Given the description of an element on the screen output the (x, y) to click on. 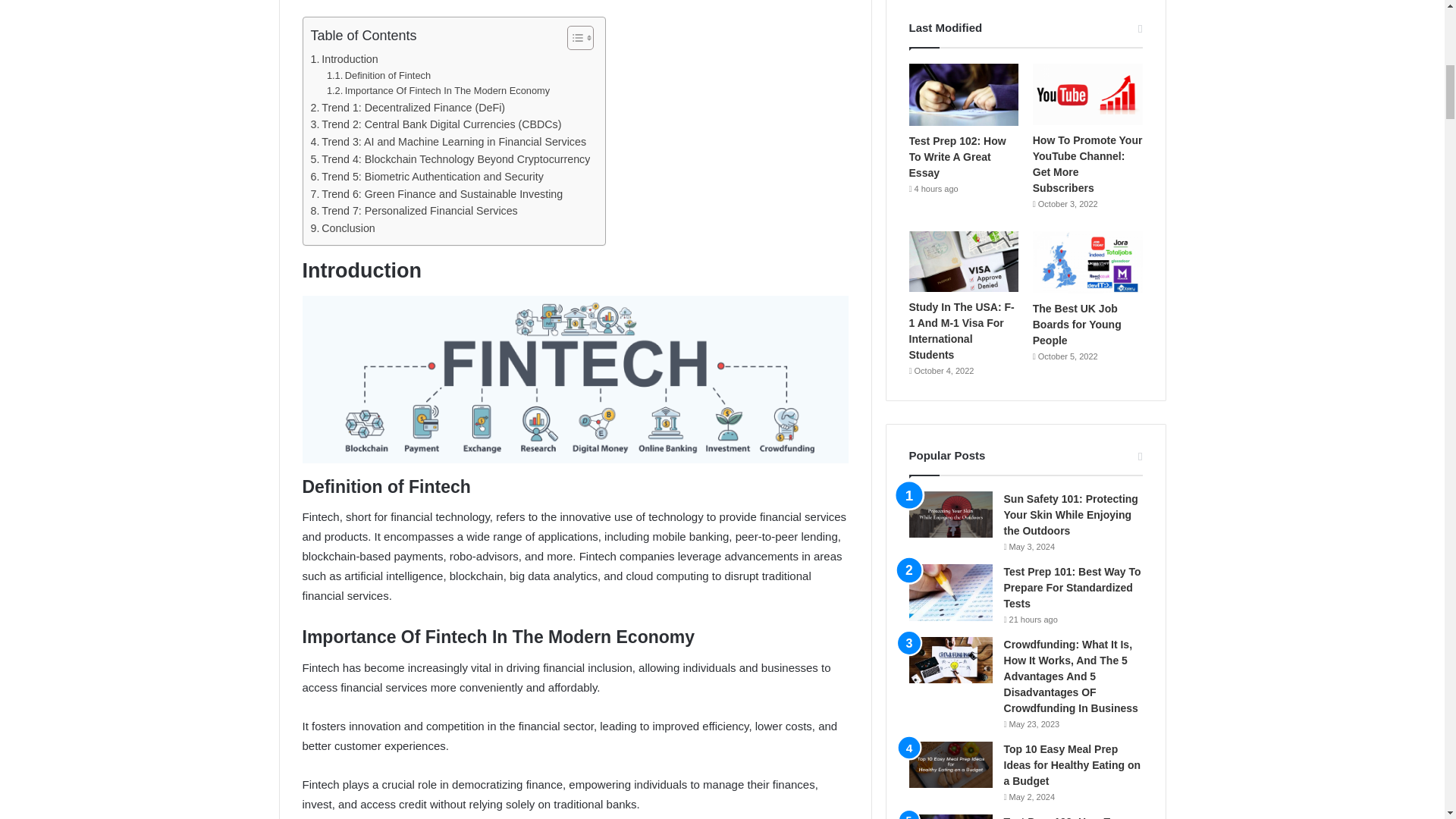
Importance Of Fintech In The Modern Economy (438, 91)
Definition of Fintech (378, 75)
Trend 6: Green Finance and Sustainable Investing (437, 194)
Definition of Fintech (378, 75)
Importance Of Fintech In The Modern Economy (438, 91)
Trend 4: Blockchain Technology Beyond Cryptocurrency (451, 159)
Introduction (344, 58)
Trend 3: AI and Machine Learning in Financial Services (448, 141)
Trend 5: Biometric Authentication and Security (427, 176)
Introduction (344, 58)
